Given the description of an element on the screen output the (x, y) to click on. 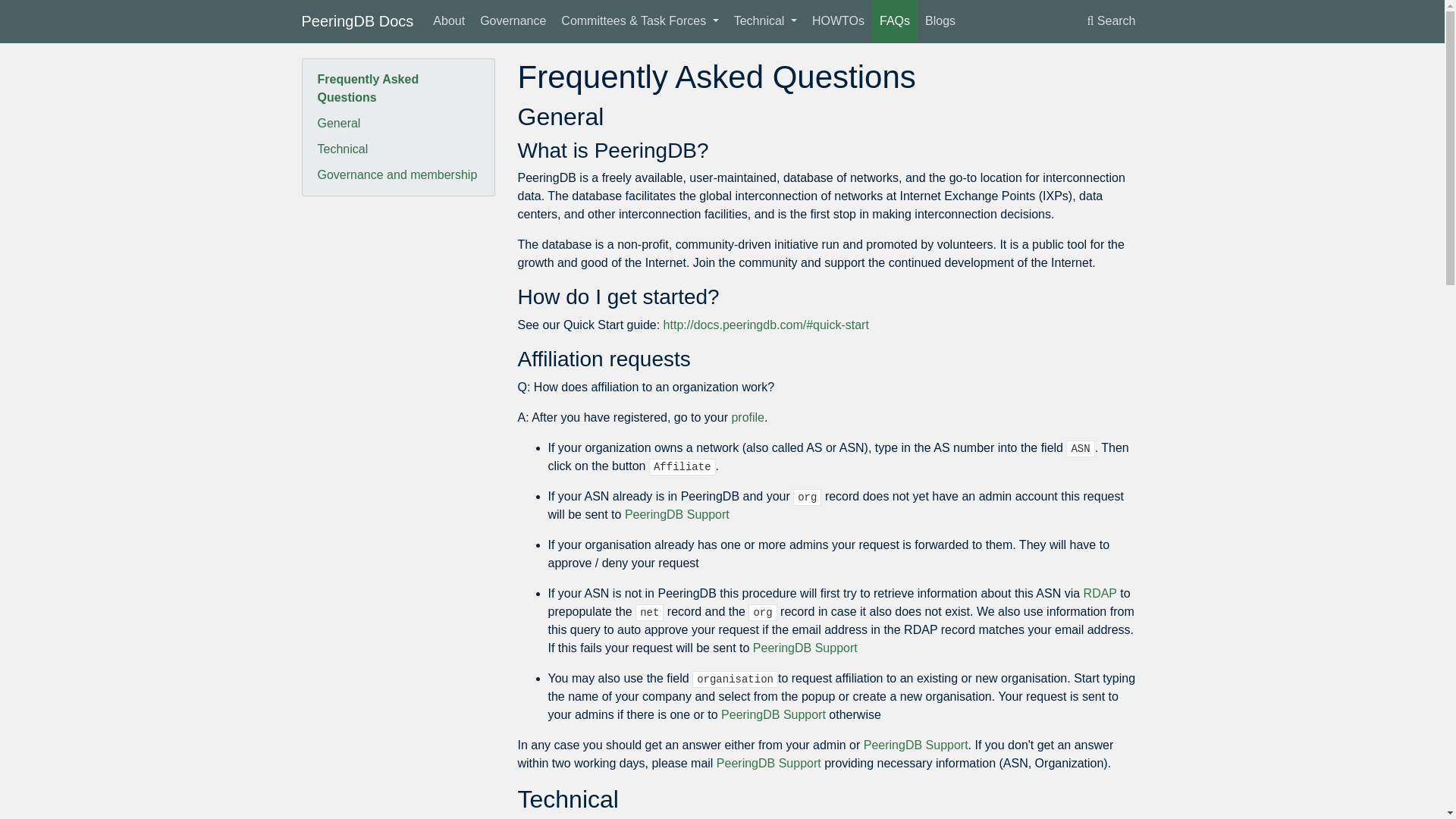
HOWTOs (838, 21)
profile (747, 417)
PeeringDB Docs (357, 20)
PeeringDB Support (804, 647)
Frequently Asked Questions (397, 88)
Blogs (939, 21)
PeeringDB Support (768, 762)
FAQs (894, 21)
General (397, 123)
About (448, 21)
